Given the description of an element on the screen output the (x, y) to click on. 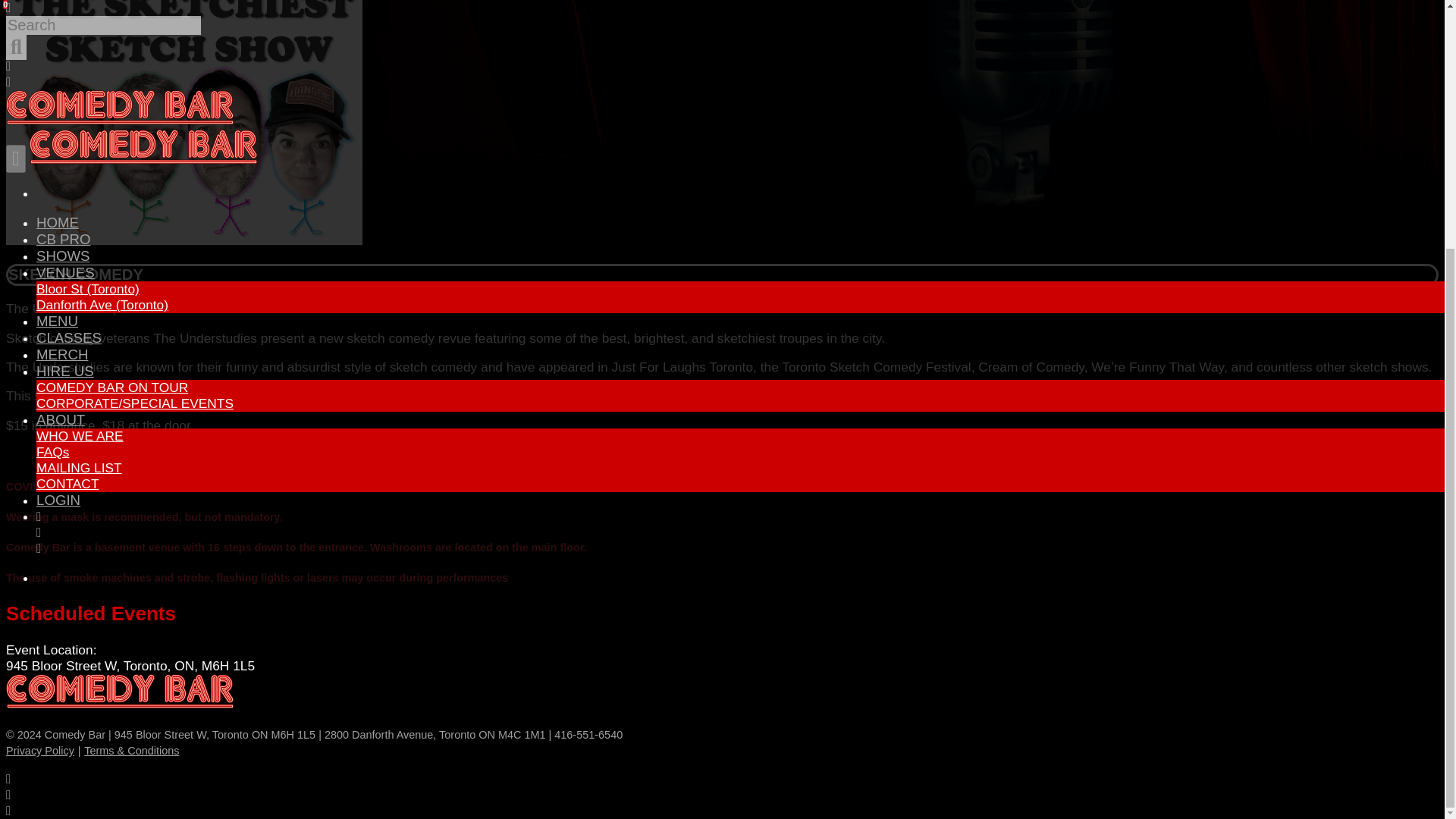
ABOUT (60, 71)
COMEDY BAR ON TOUR (111, 38)
MERCH (61, 7)
FAQs (52, 103)
LOGIN (58, 151)
MAILING LIST (79, 119)
CONTACT (67, 135)
Privacy Policy (39, 749)
HIRE US (65, 23)
WHO WE ARE (79, 87)
